Given the description of an element on the screen output the (x, y) to click on. 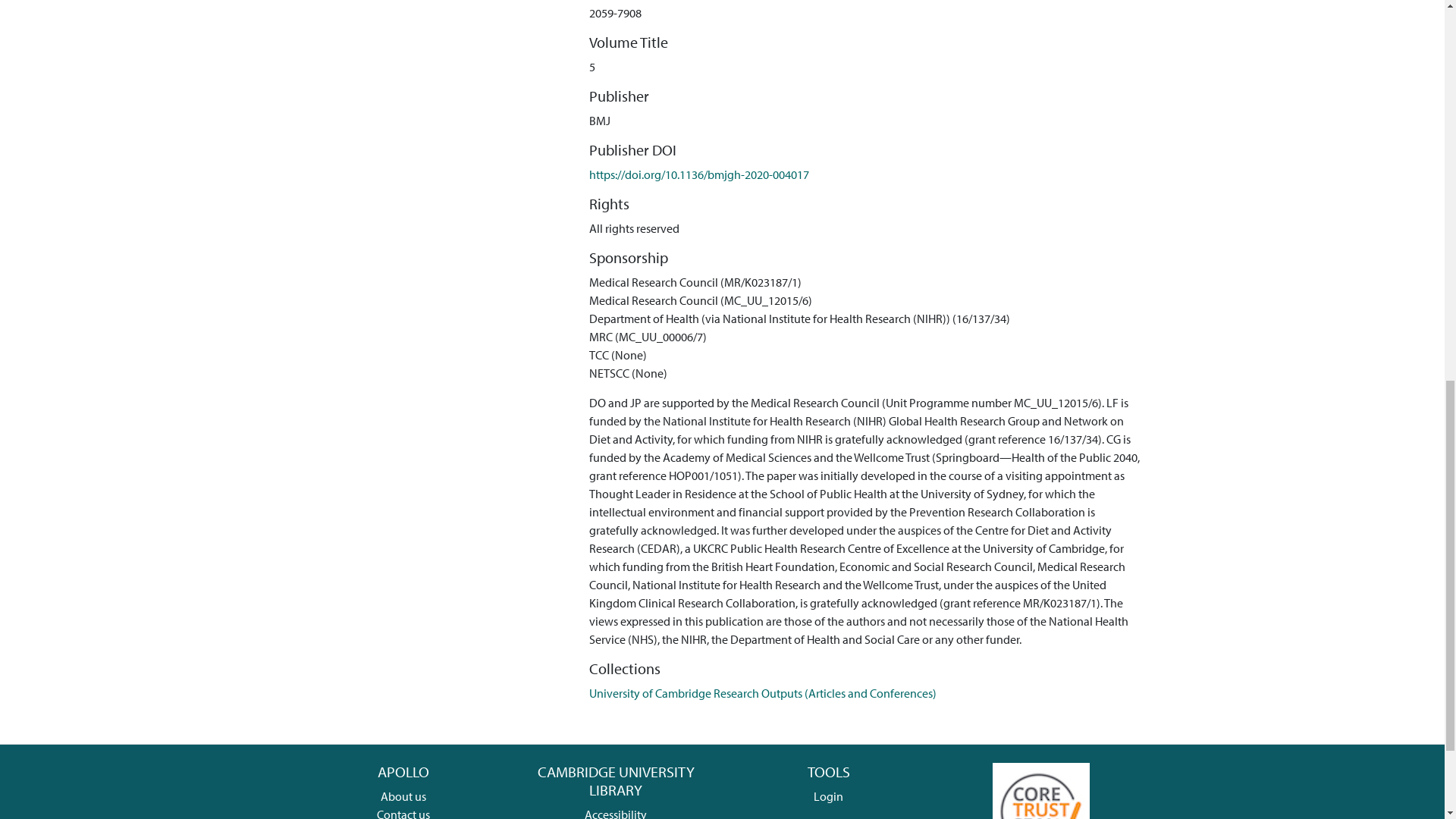
Contact us (403, 812)
About us (403, 795)
Accessibility (615, 812)
Apollo CTS full application (1040, 809)
